Given the description of an element on the screen output the (x, y) to click on. 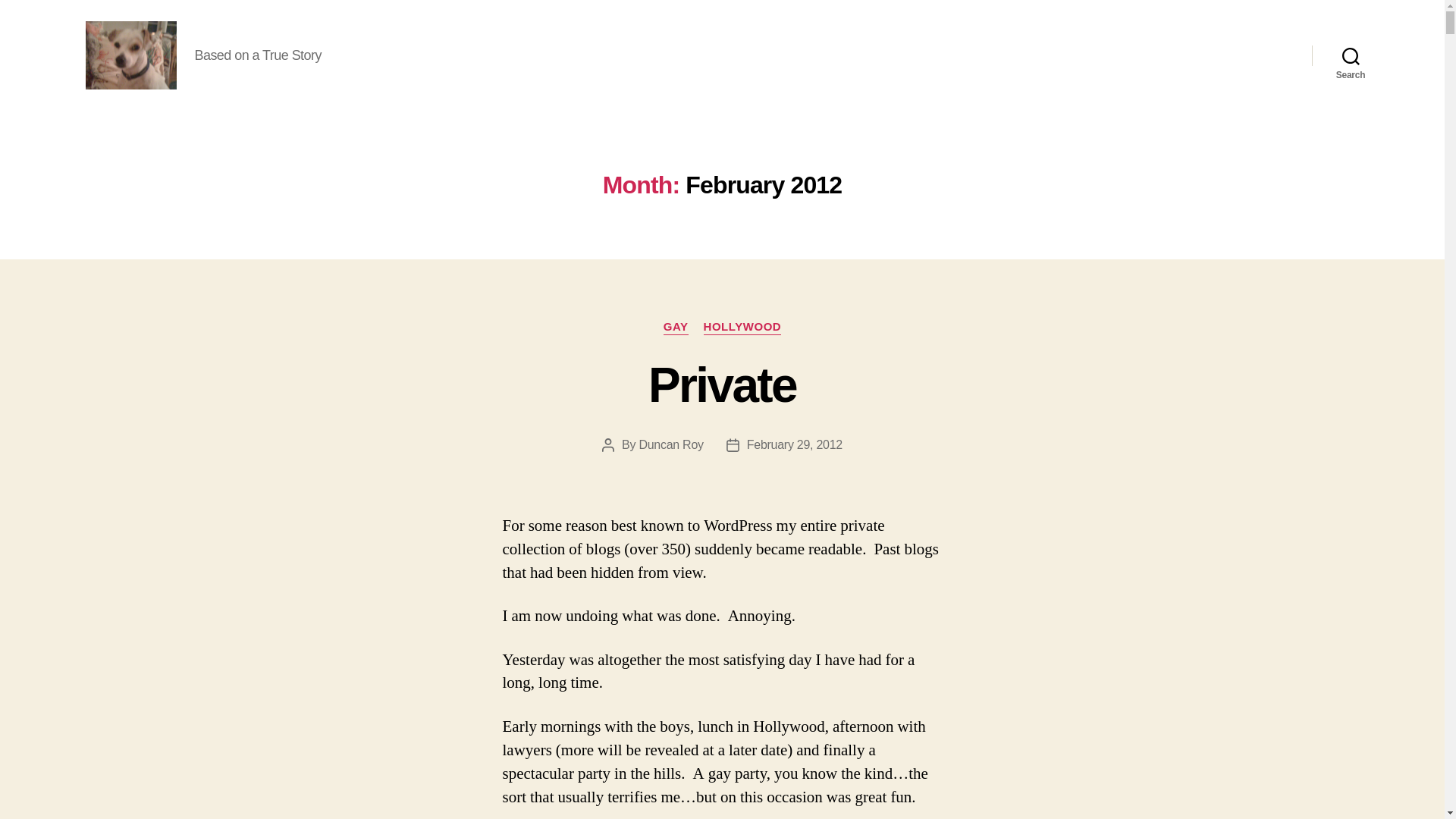
HOLLYWOOD (742, 327)
Private (721, 384)
Search (1350, 55)
February 29, 2012 (794, 444)
GAY (675, 327)
Duncan Roy (671, 444)
